Given the description of an element on the screen output the (x, y) to click on. 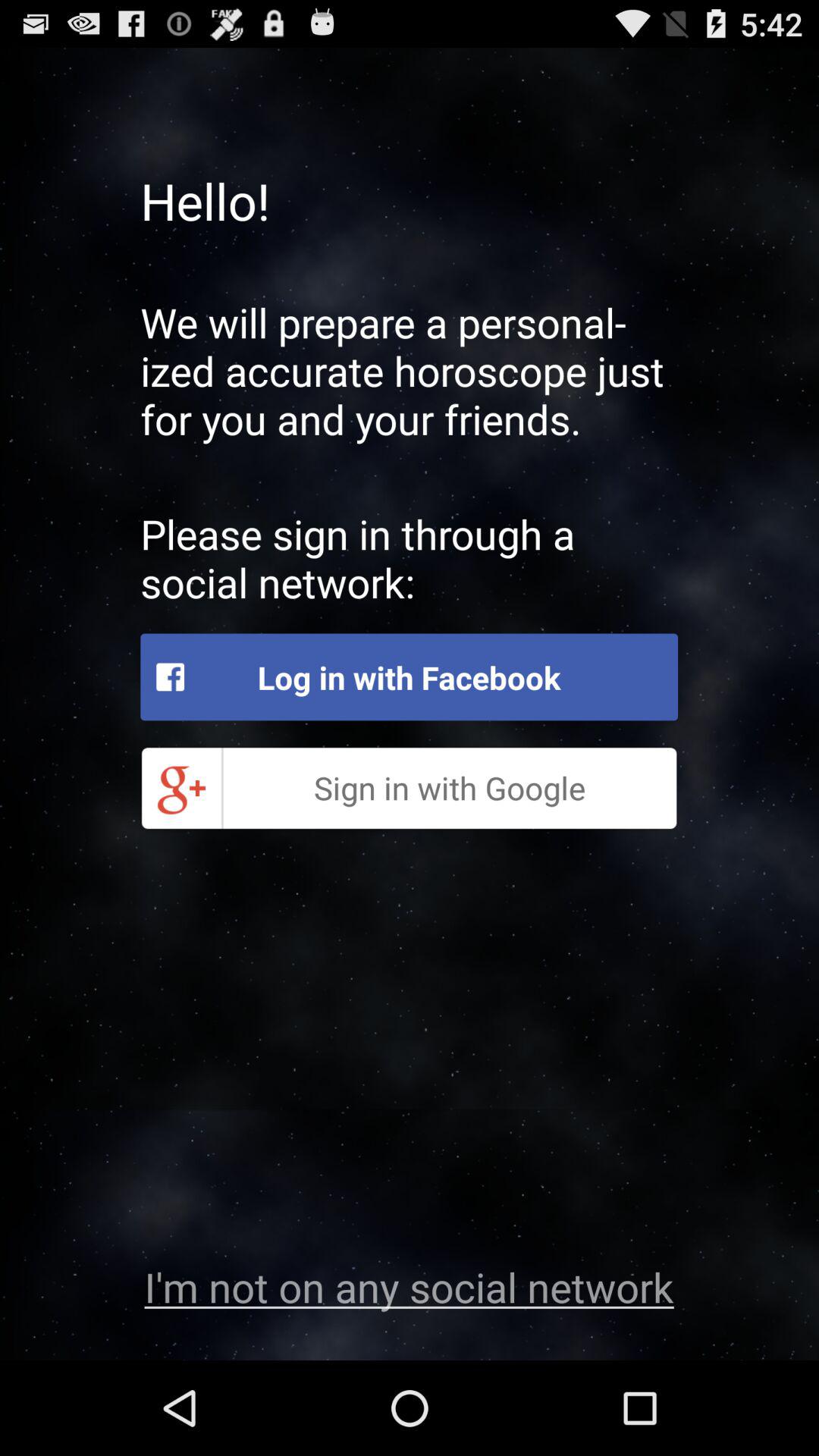
launch the icon below sign in with button (409, 1286)
